Given the description of an element on the screen output the (x, y) to click on. 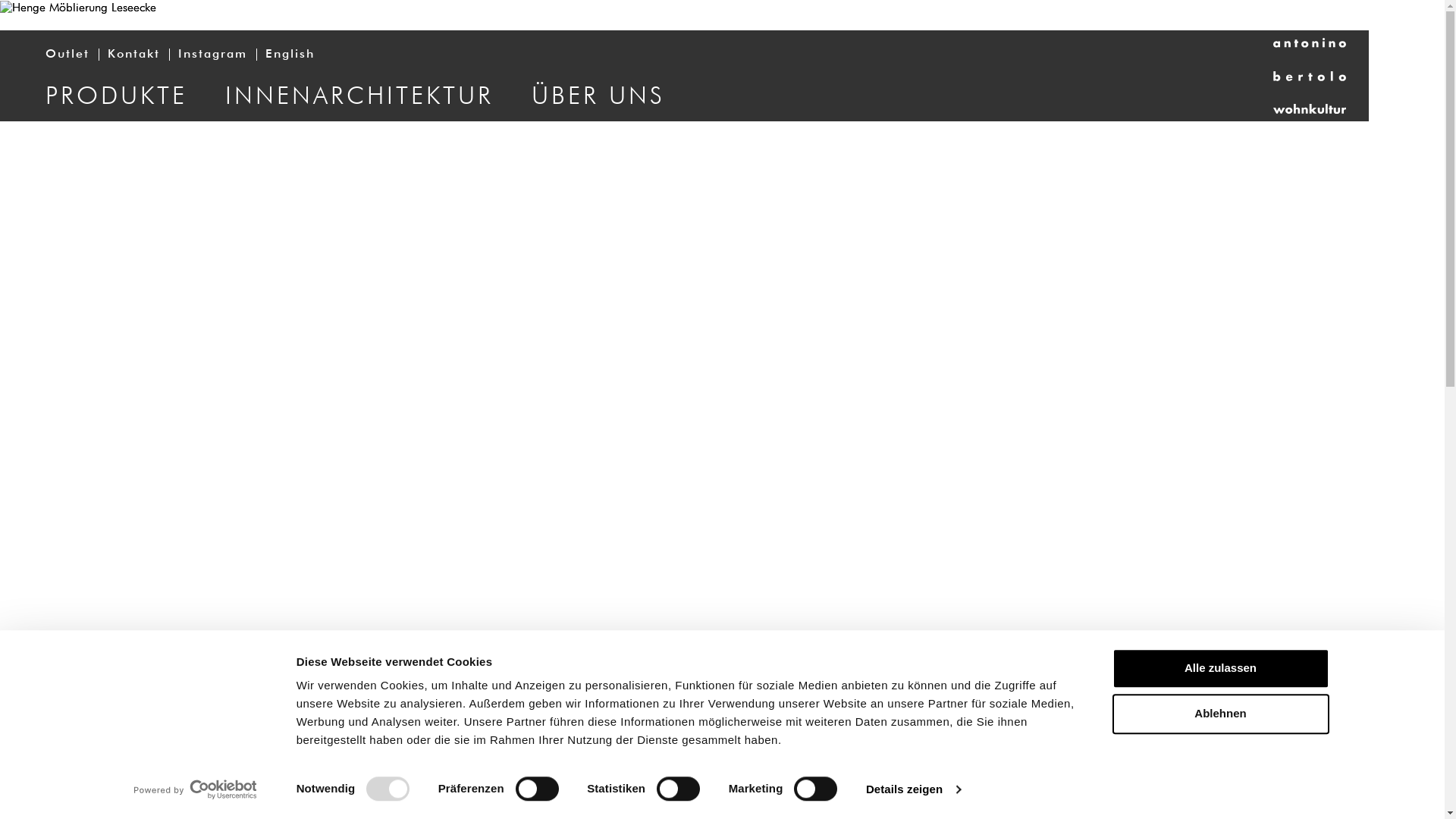
English Element type: text (289, 54)
Instagram Element type: text (212, 54)
Ablehnen Element type: text (1219, 714)
Details zeigen Element type: text (913, 789)
Kontakt Element type: text (133, 54)
Outlet Element type: text (67, 54)
Alle zulassen Element type: text (1219, 668)
INNENARCHITEKTUR Element type: text (359, 95)
PRODUKTE Element type: text (116, 95)
